Given the description of an element on the screen output the (x, y) to click on. 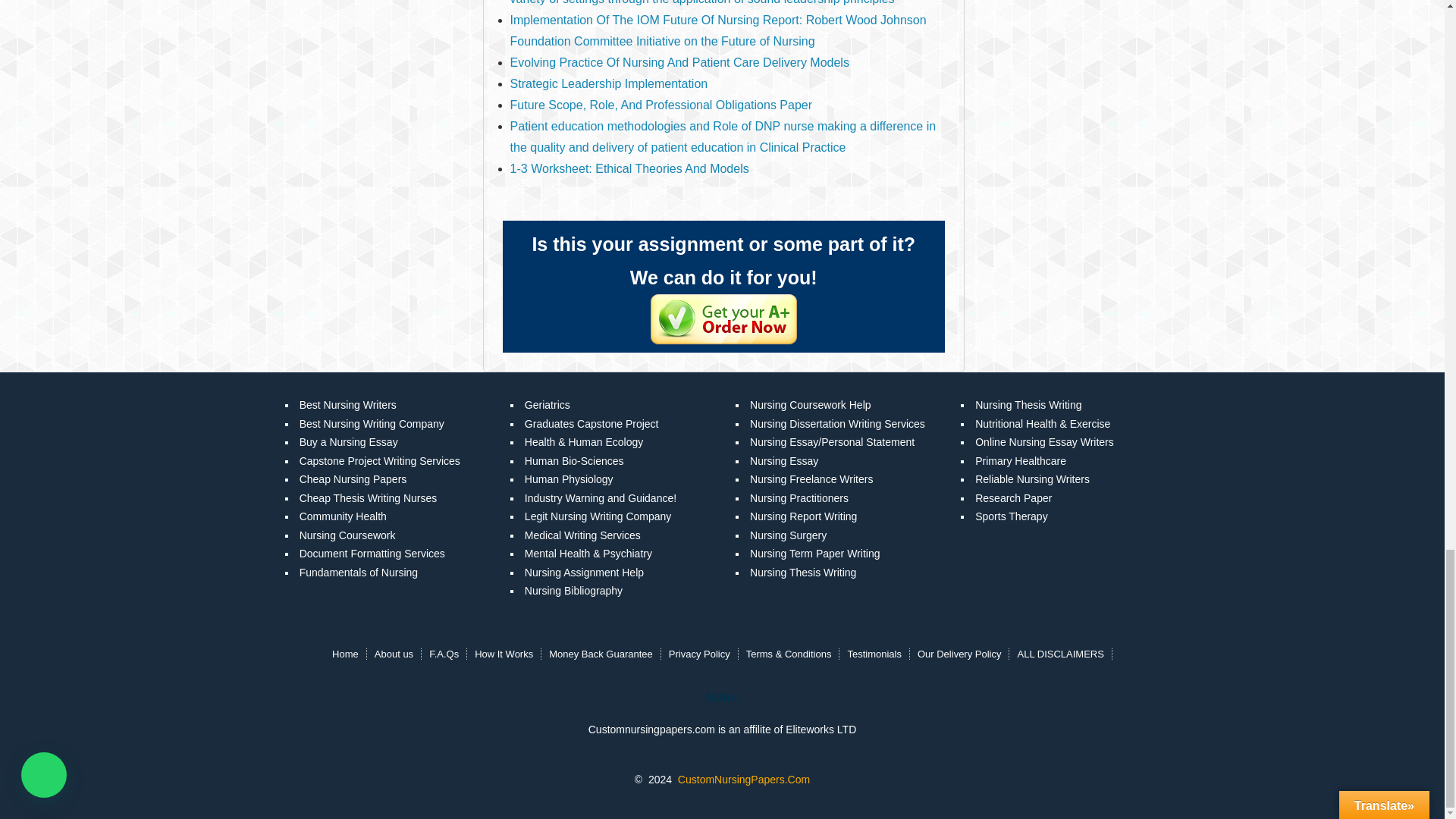
Strategic Leadership Implementation (609, 83)
1-3 Worksheet: Ethical Theories And Models (630, 168)
Future Scope, Role, And Professional Obligations Paper (661, 104)
Strategic Leadership Implementation (609, 83)
Future Scope, Role, And Professional Obligations Paper (661, 104)
